Given the description of an element on the screen output the (x, y) to click on. 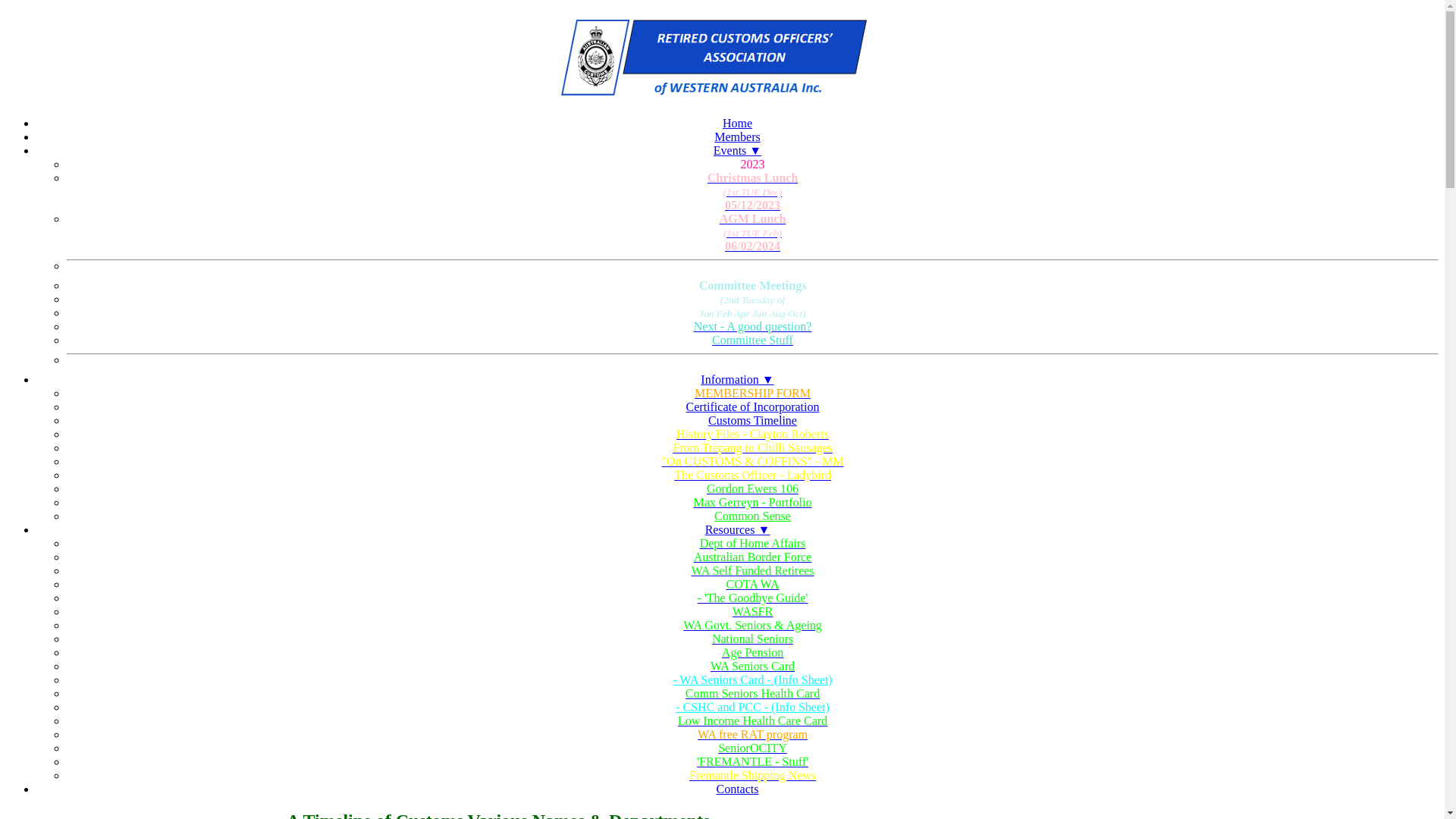
Common Sense Element type: text (752, 515)
"On CUSTOMS & COFFINS" - MM Element type: text (752, 461)
Max Gerreyn - Portfolio Element type: text (752, 502)
- WA Seniors Card - (Info Sheet) Element type: text (751, 679)
Committee Stuff Element type: text (752, 340)
The Customs Officer - Ladybird Element type: text (752, 475)
AGM Lunch
(1st TUE Feb)
06/02/2024 Element type: text (752, 232)
From Trepang to Chilli Sausages Element type: text (752, 448)
Australian Border Force Element type: text (752, 557)
Contacts Element type: text (736, 788)
Christmas Lunch
(1st TUE Dec)
05/12/2023 Element type: text (752, 191)
WA Seniors Card Element type: text (752, 666)
Age Pension Element type: text (752, 652)
SeniorOCITY Element type: text (752, 748)
Customs Timeline Element type: text (752, 420)
- CSHC and PCC - (Info Sheet) Element type: text (752, 706)
WA free RAT program Element type: text (752, 734)
Low Income Health Care Card Element type: text (752, 721)
'FREMANTLE - Stuff' Element type: text (752, 761)
History Files - Clayton Roberts Element type: text (752, 434)
- 'The Goodbye Guide' Element type: text (752, 598)
WA Govt. Seniors & Ageing Element type: text (752, 625)
Dept of Home Affairs Element type: text (752, 543)
Next - A good question? Element type: text (752, 326)
Members Element type: text (736, 136)
Gordon Ewers 106 Element type: text (752, 488)
MEMBERSHIP FORM Element type: text (752, 393)
WA Self Funded Retirees Element type: text (752, 570)
WASFR Element type: text (752, 611)
COTA WA Element type: text (752, 584)
National Seniors Element type: text (752, 639)
Home Element type: text (737, 122)
Fremantle Shipping News Element type: text (752, 775)
Certificate of Incorporation Element type: text (752, 406)
Comm Seniors Health Card Element type: text (752, 693)
